Given the description of an element on the screen output the (x, y) to click on. 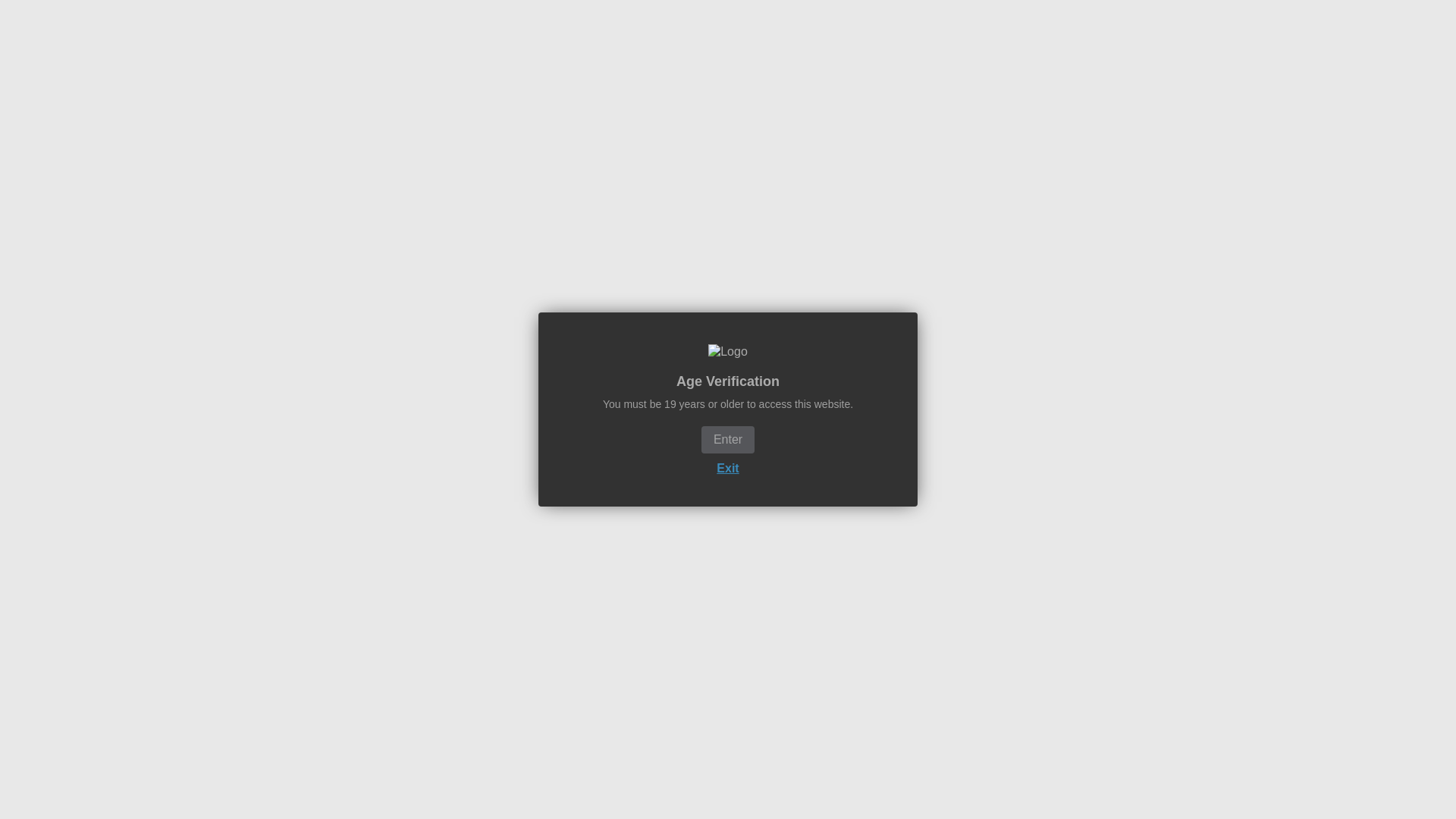
Enter (727, 439)
Exit (727, 468)
